Given the description of an element on the screen output the (x, y) to click on. 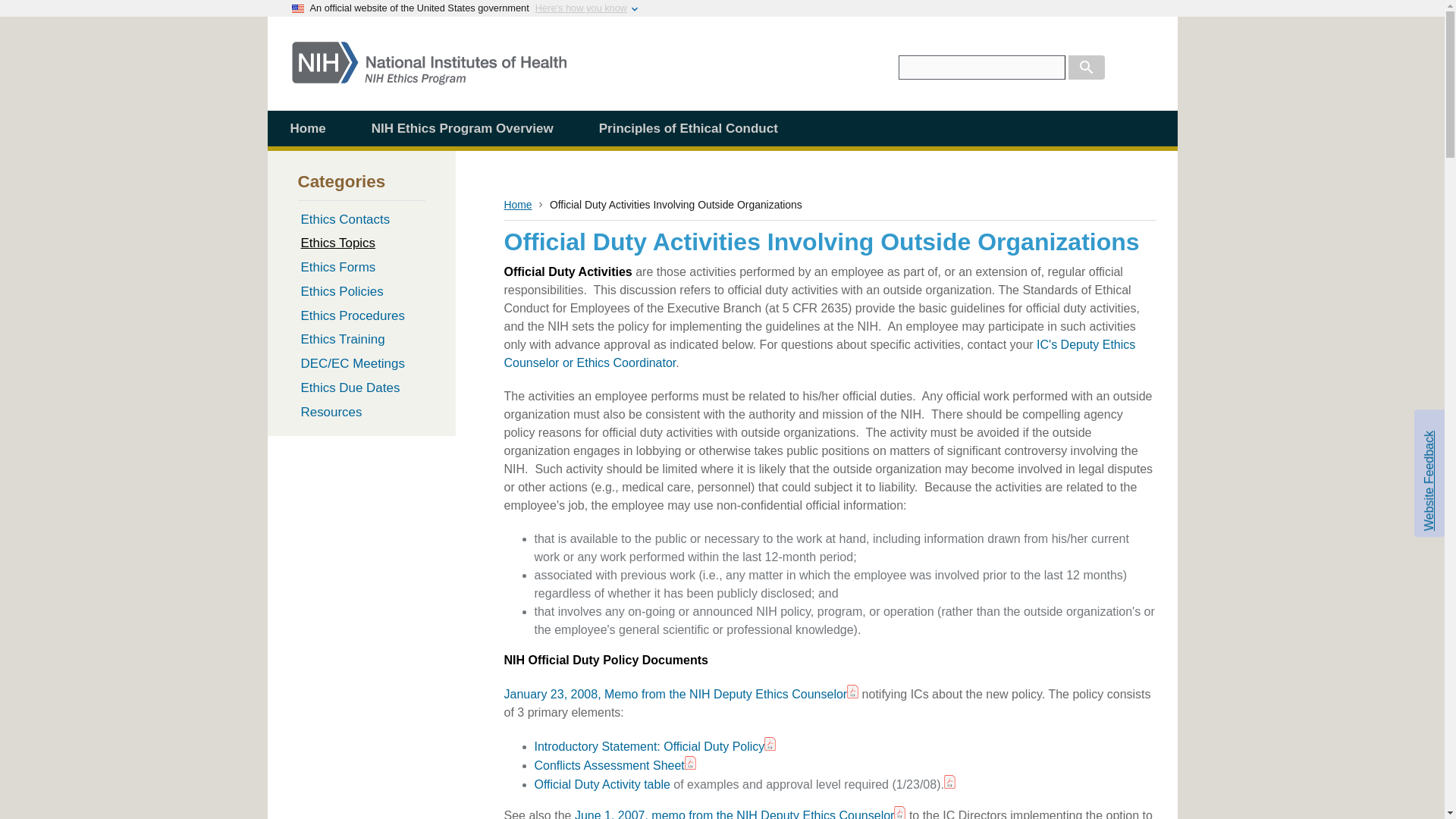
Ethics Due Dates (361, 387)
Ethics Procedures (361, 315)
Official Duty Activity table (601, 784)
Ethics Contacts (361, 218)
Ethics Training (361, 339)
Introductory Statement: Official Duty Policy (649, 746)
Ethics Forms (361, 267)
Ethics Policies (361, 291)
January 23, 2008, Memo from the NIH Deputy Ethics Counselor (675, 694)
June 1, 2007, memo from the NIH Deputy Ethics Counselor (735, 814)
Home (306, 128)
IC's Deputy Ethics Counselor or Ethics Coordinator (819, 353)
Principles of Ethical Conduct (688, 128)
Home (517, 204)
Home (428, 77)
